Given the description of an element on the screen output the (x, y) to click on. 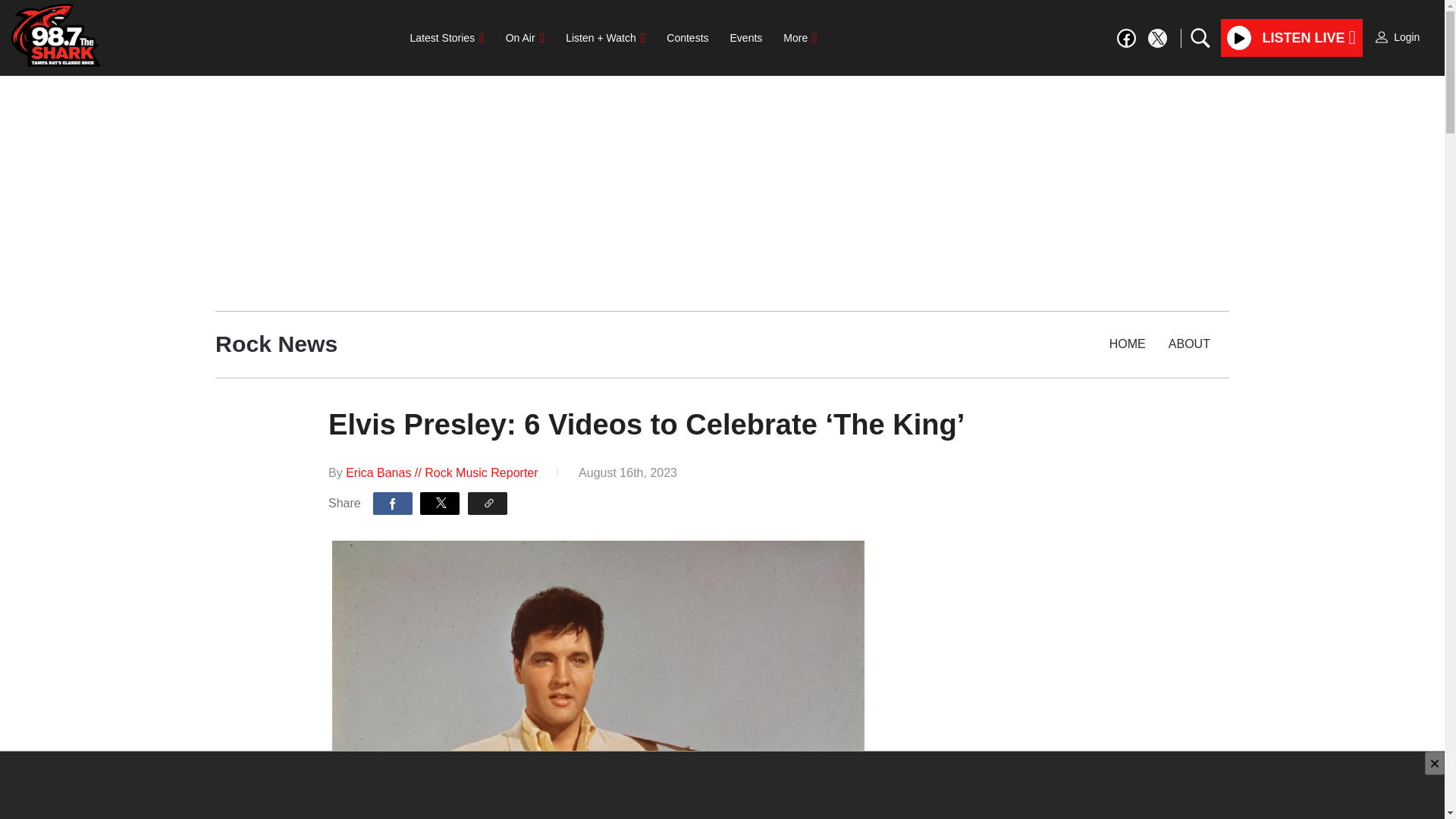
On Air (524, 37)
Latest Stories (446, 37)
Events (746, 37)
More (800, 37)
Close AdCheckmark indicating ad close (1434, 763)
Contests (687, 37)
